Given the description of an element on the screen output the (x, y) to click on. 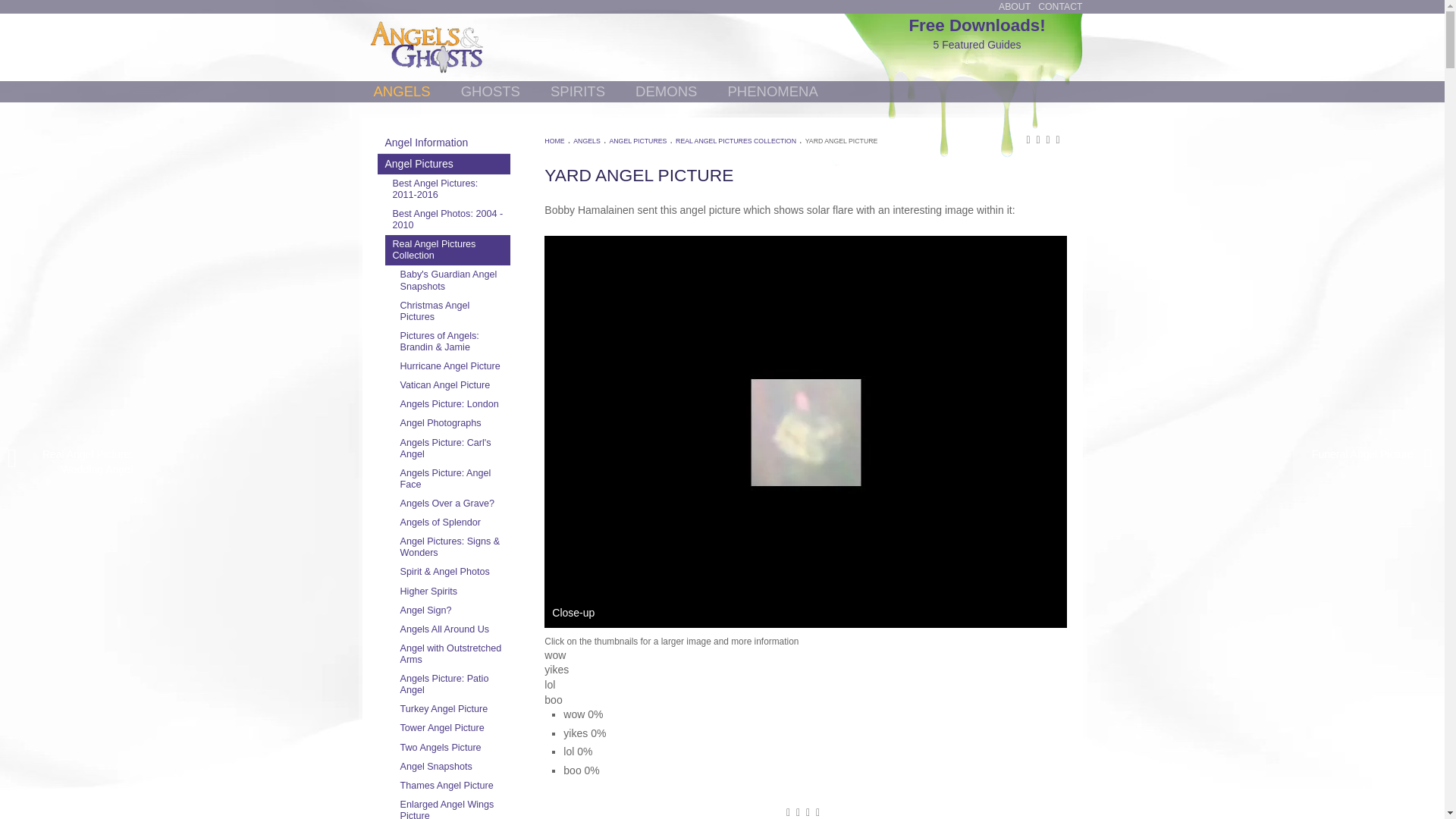
Post (1021, 43)
Turkey Angel Picture (452, 709)
ABOUT (1014, 6)
Real Angel Pictures Collection (448, 250)
Baby's Guardian Angel Snapshots (452, 280)
DEMONS (665, 91)
Angel Information (444, 142)
Hurricane Angel Picture (452, 366)
Angels Picture: Patio Angel (452, 684)
Signup (1061, 43)
Angel with Outstretched Arms (452, 654)
Angel Photographs (452, 423)
ANGELS (401, 91)
Best Angel Photos: 2004 - 2010 (448, 219)
Angels of Splendor (452, 522)
